Given the description of an element on the screen output the (x, y) to click on. 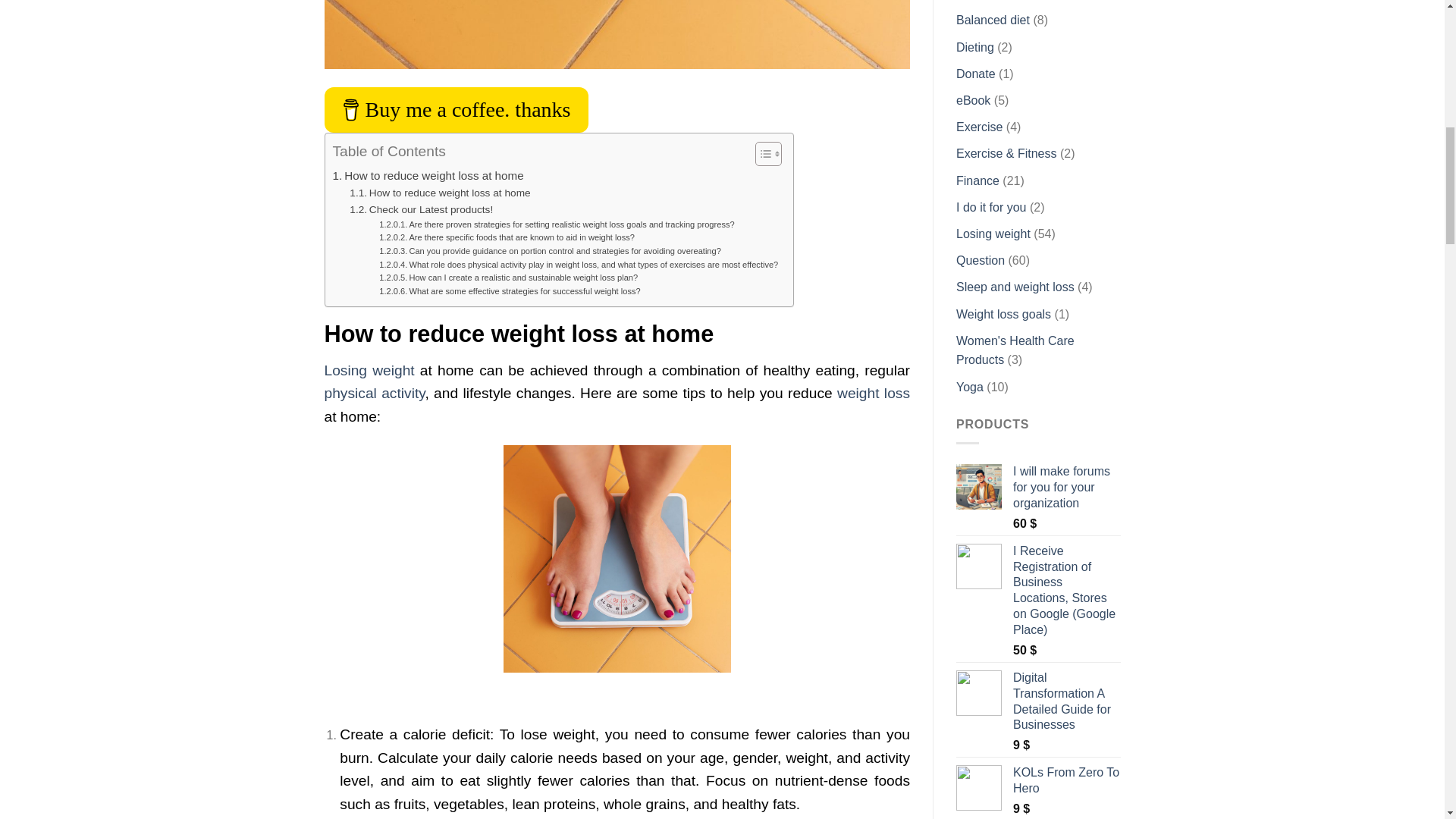
Check our Latest products! (421, 209)
How to reduce weight loss at home (439, 193)
How to reduce weight loss at home (426, 176)
Check our Latest products! (421, 209)
Buy me a coffee. thanks (456, 109)
How to reduce weight loss at home (439, 193)
How to reduce weight loss at home (426, 176)
